Given the description of an element on the screen output the (x, y) to click on. 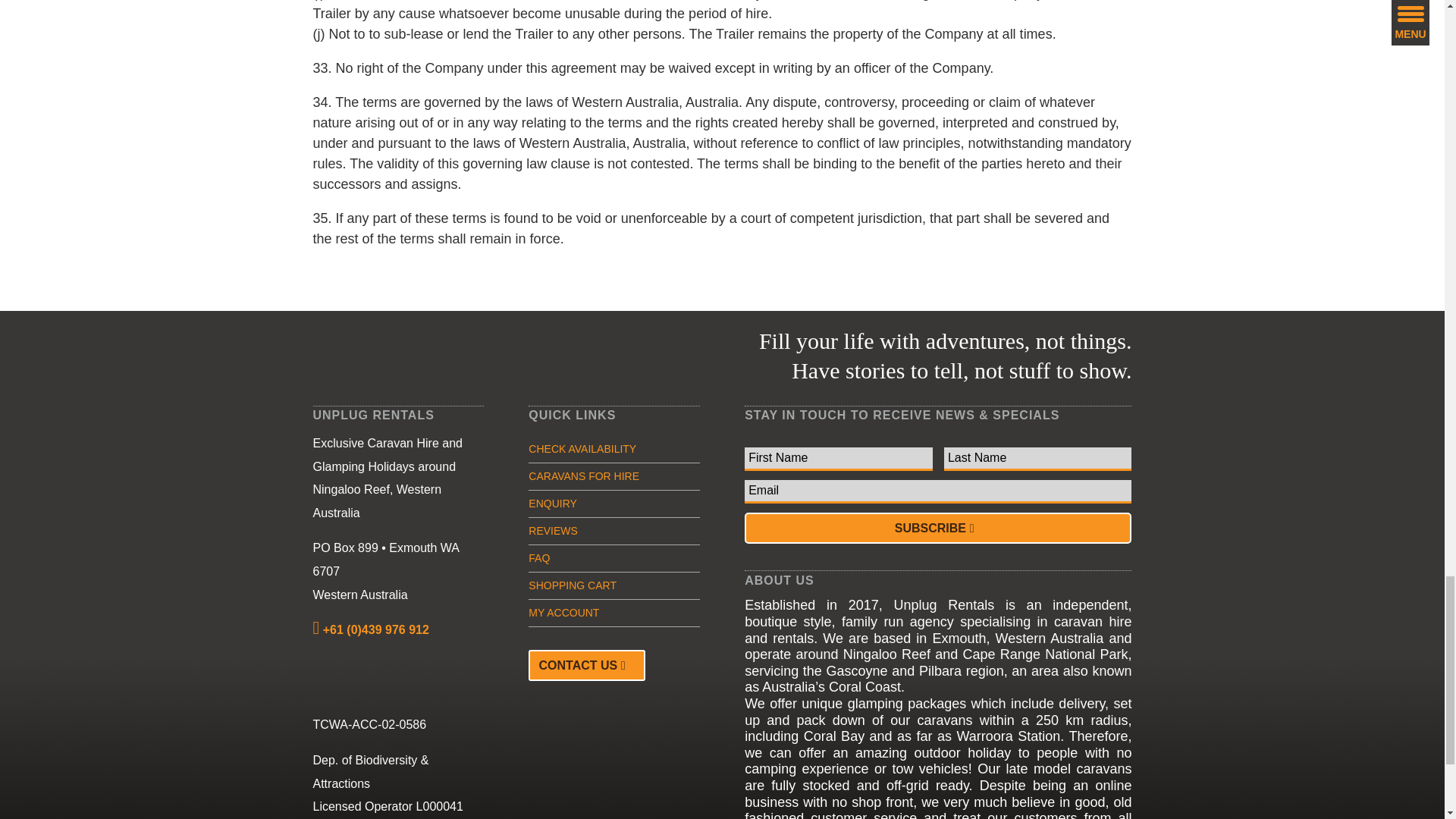
Enquiry (552, 503)
Check Availability (582, 449)
CHECK AVAILABILITY (582, 449)
